Given the description of an element on the screen output the (x, y) to click on. 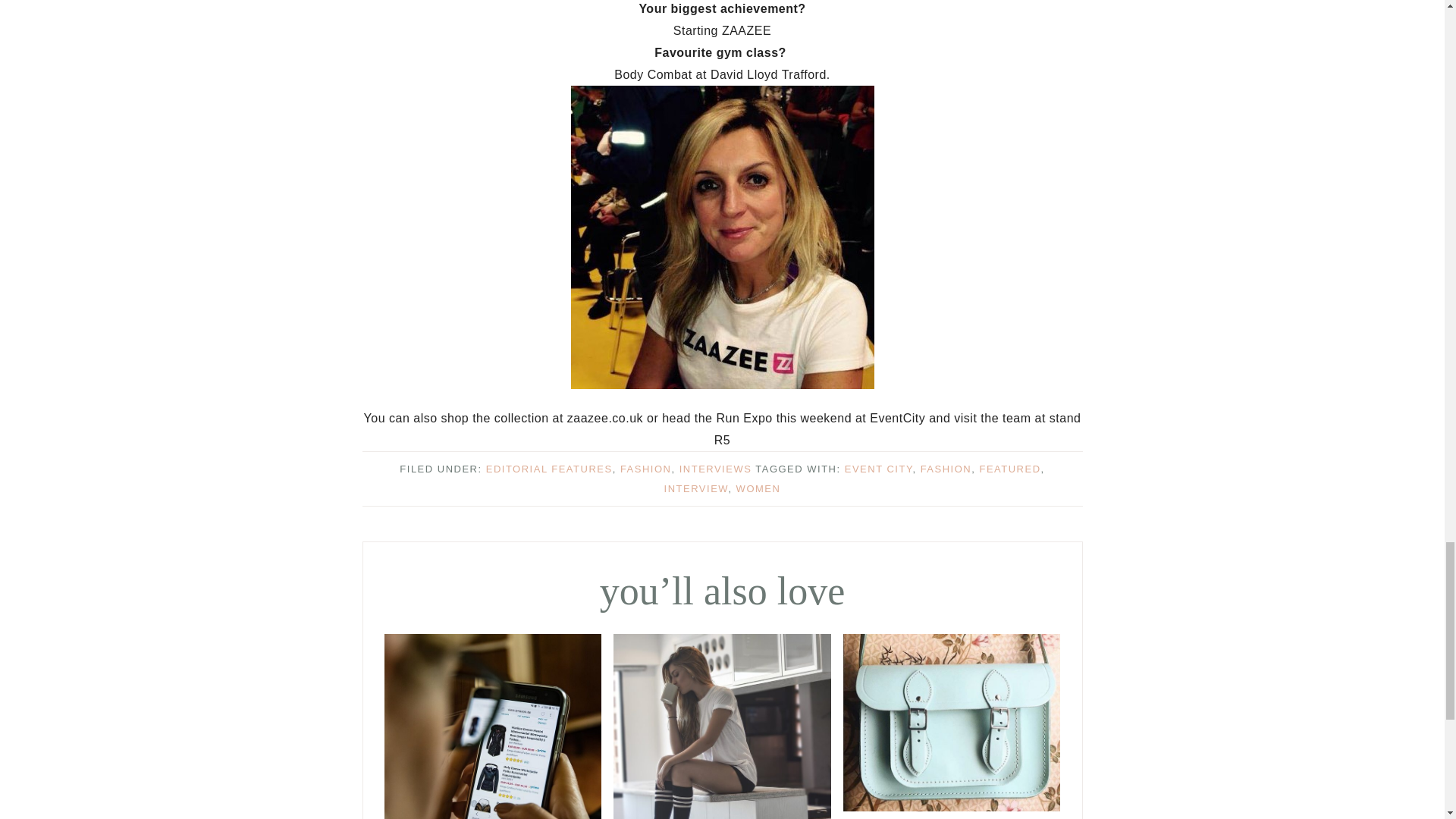
Permanent Link to Cambridge Satchel Bag Review (952, 807)
